Given the description of an element on the screen output the (x, y) to click on. 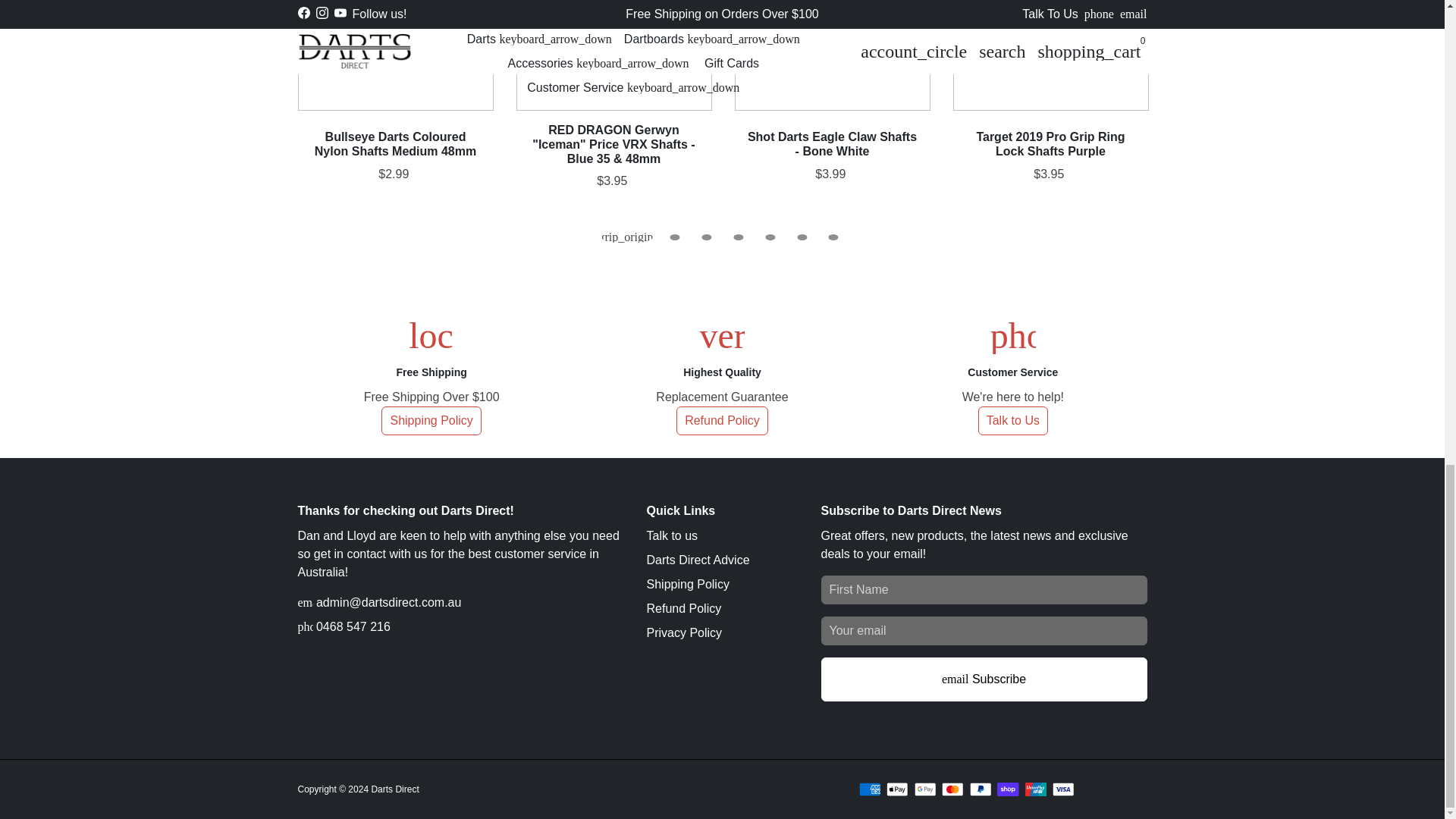
Union Pay (1035, 789)
Mastercard (952, 789)
Google Pay (925, 789)
American Express (869, 789)
Apple Pay (897, 789)
PayPal (980, 789)
Shop Pay (1008, 789)
Visa (1063, 789)
